Given the description of an element on the screen output the (x, y) to click on. 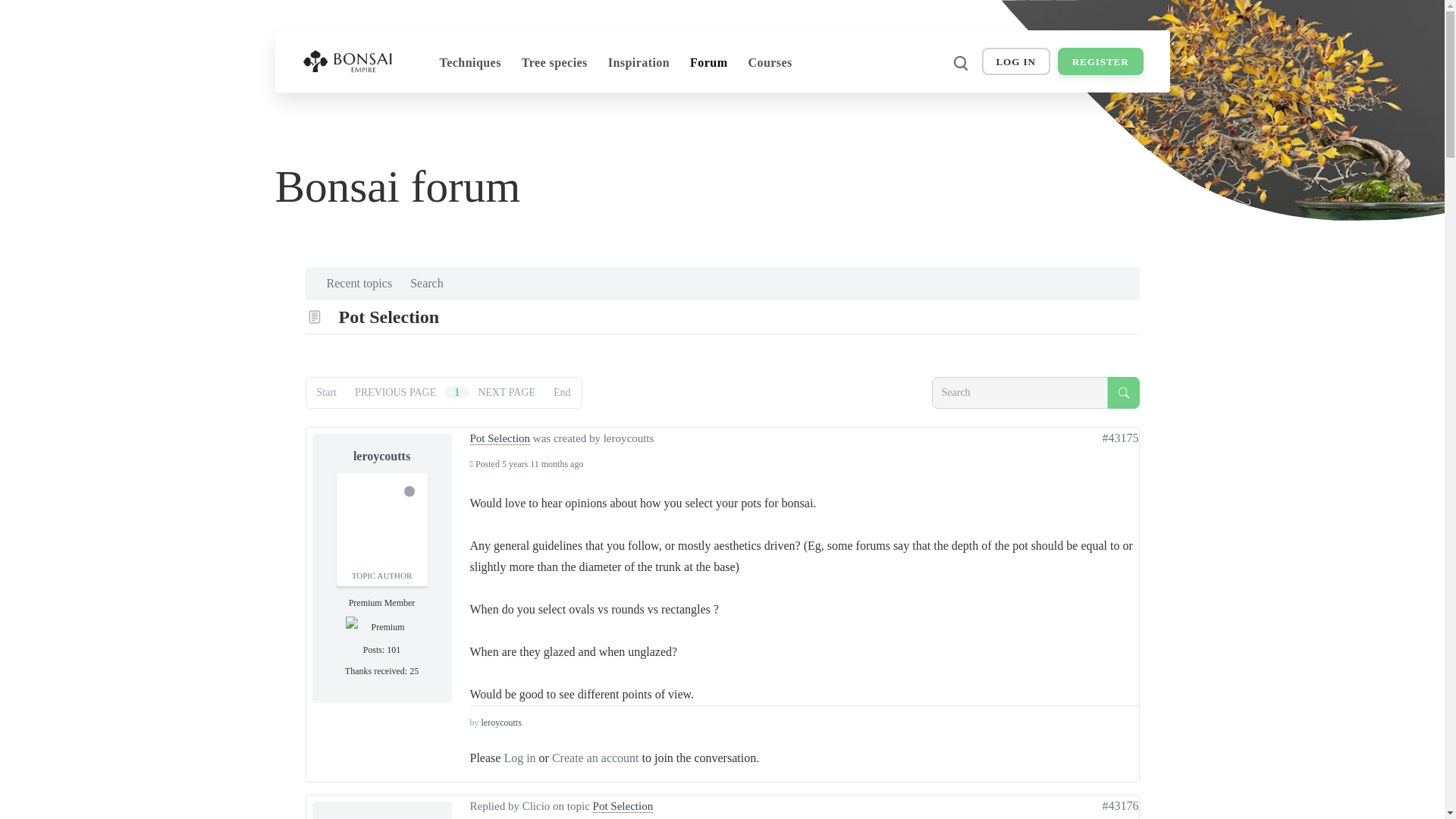
Tree species (554, 62)
Enter here your item to search (1018, 392)
31 Jul 2018 07:49 (542, 463)
Techniques (469, 62)
leroycoutts's Avatar (382, 517)
